Given the description of an element on the screen output the (x, y) to click on. 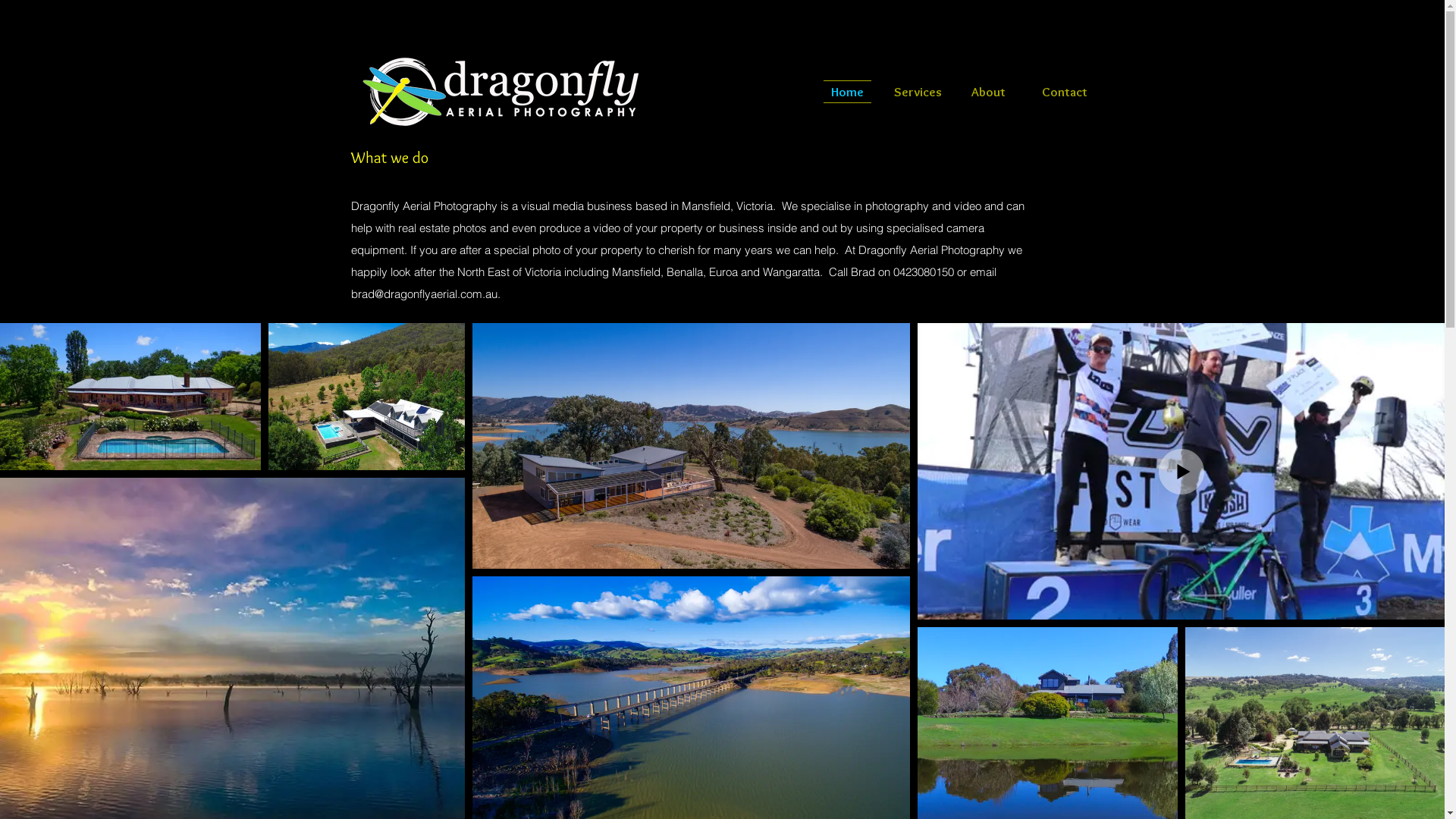
brad@dragonflyaerial.com.au Element type: text (423, 293)
About Element type: text (987, 91)
Home Element type: text (846, 91)
Contact Element type: text (1058, 91)
Services Element type: text (917, 91)
